Given the description of an element on the screen output the (x, y) to click on. 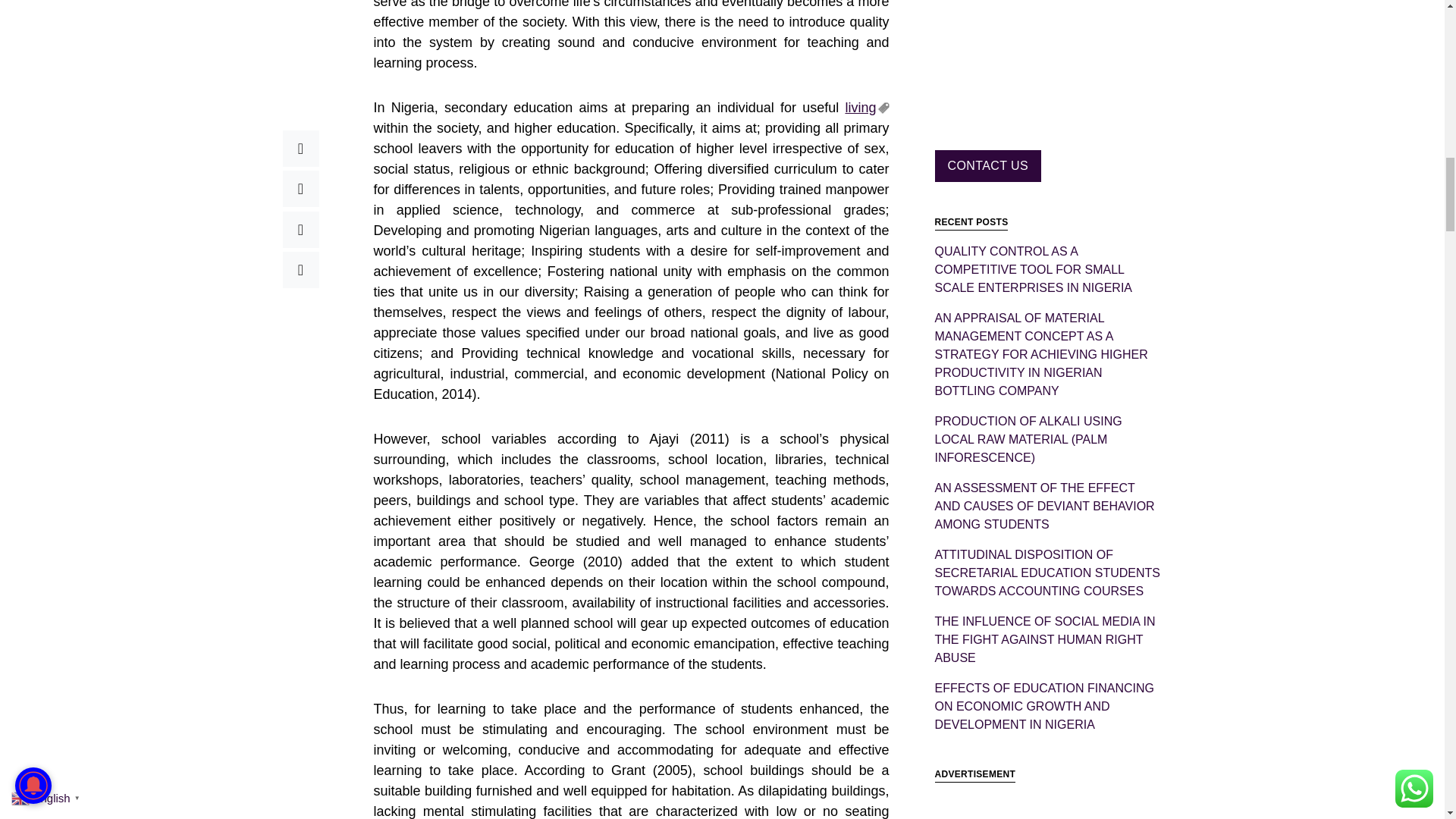
living (866, 107)
